Given the description of an element on the screen output the (x, y) to click on. 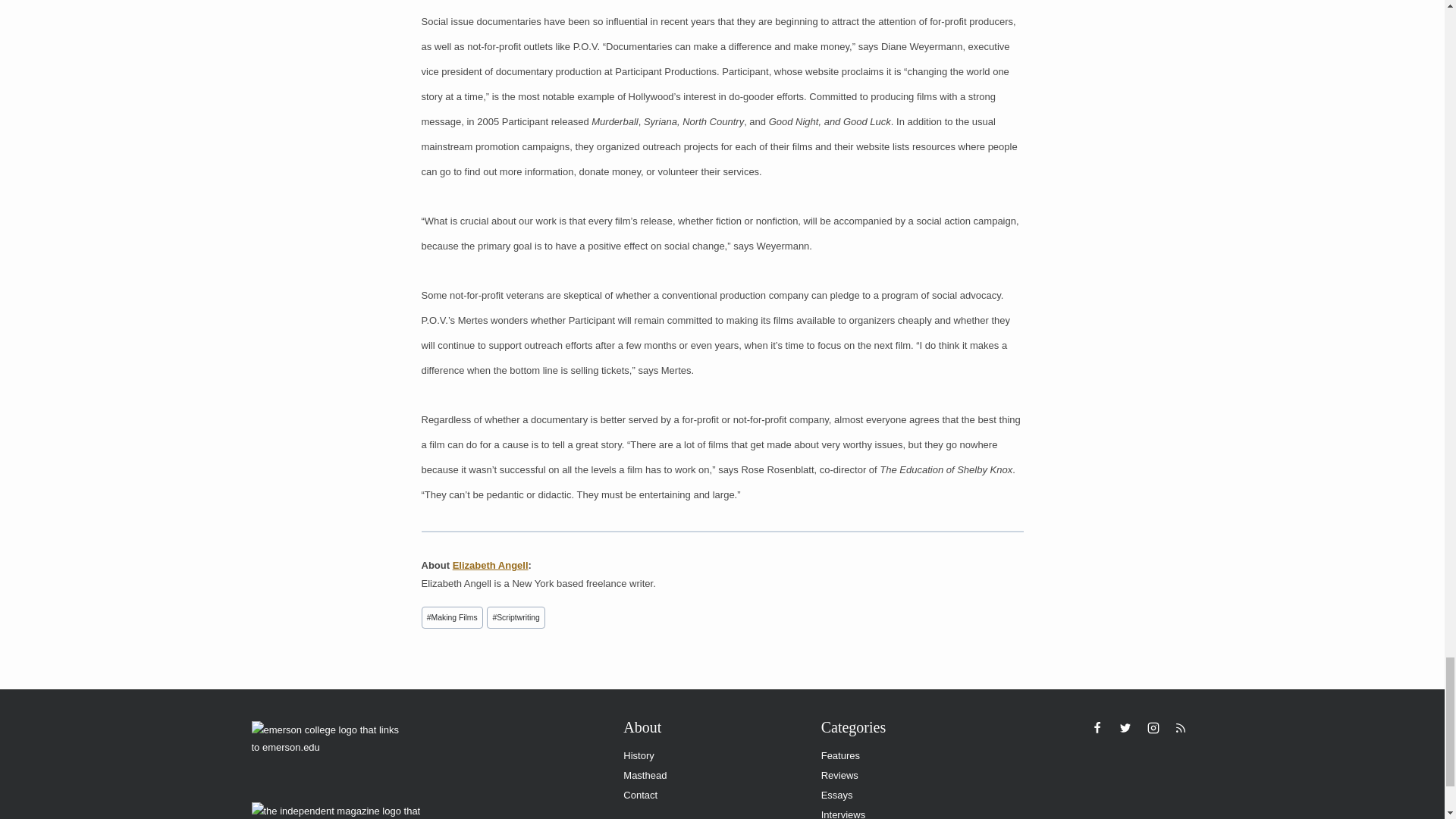
Interviews (908, 812)
Features (908, 755)
Scriptwriting (515, 617)
Making Films (452, 617)
Reviews (908, 775)
Masthead (710, 775)
Essays (908, 795)
Elizabeth Angell (490, 564)
Contact (710, 795)
History (710, 755)
